Given the description of an element on the screen output the (x, y) to click on. 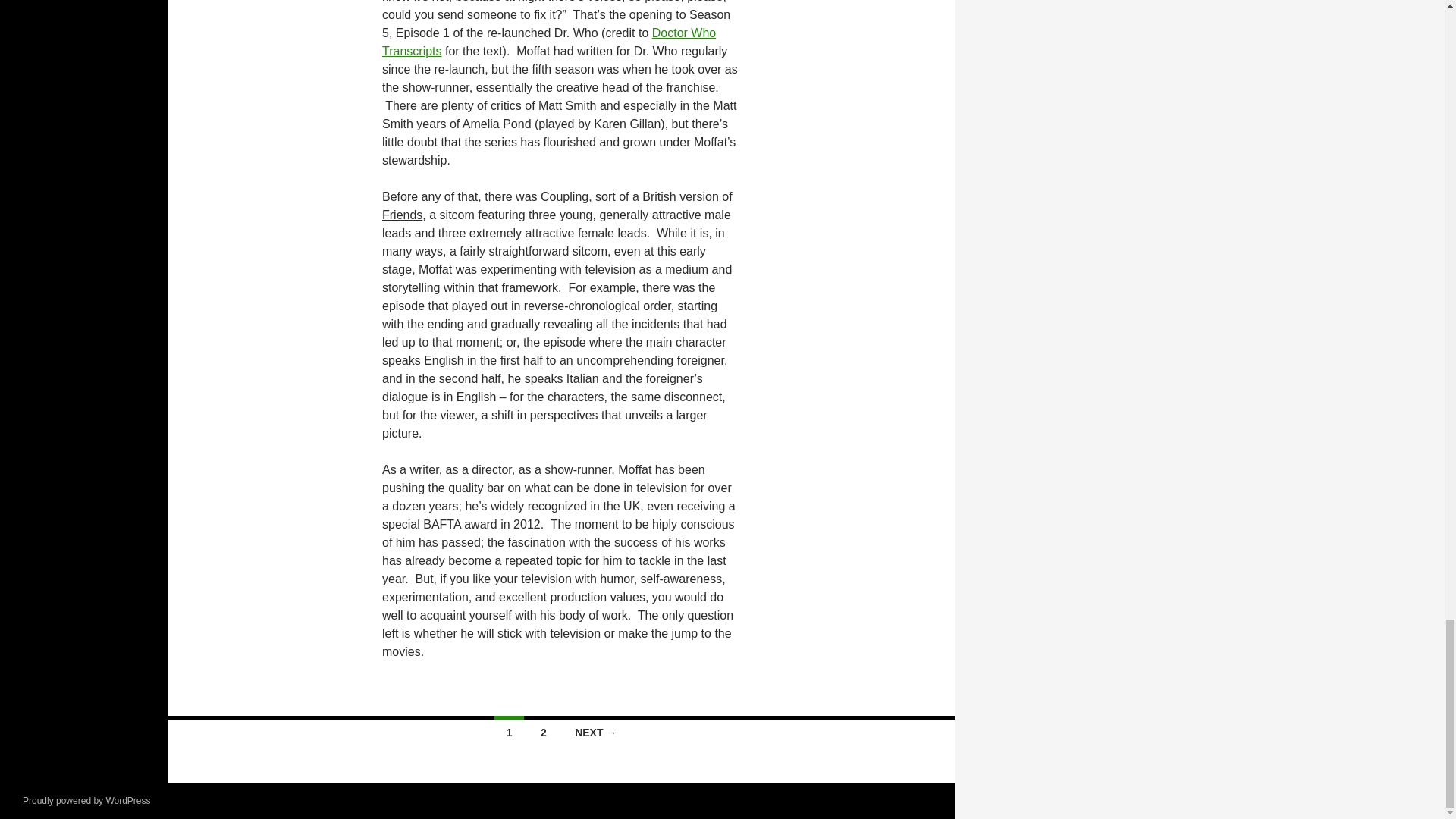
2 (543, 730)
Doctor Who Transcripts (548, 41)
